Given the description of an element on the screen output the (x, y) to click on. 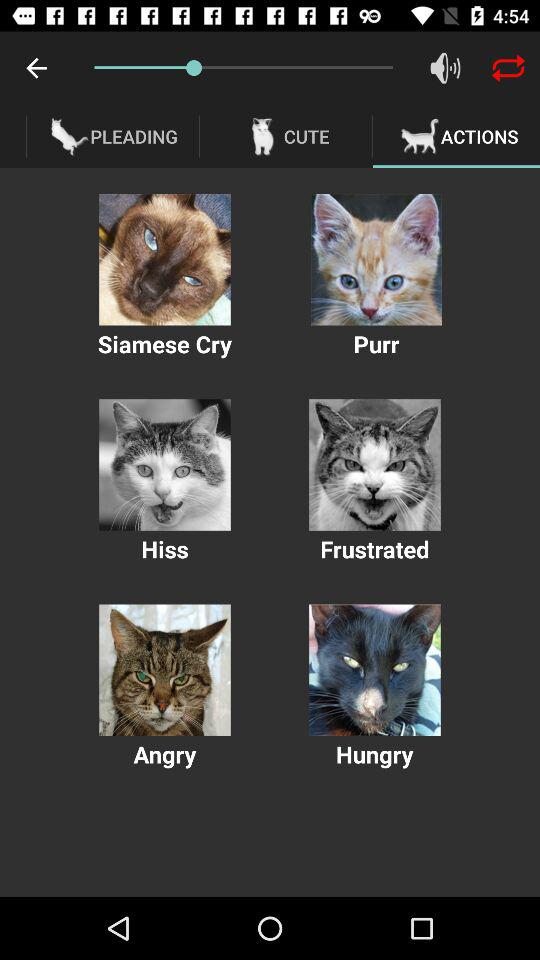
select purr (376, 259)
